Given the description of an element on the screen output the (x, y) to click on. 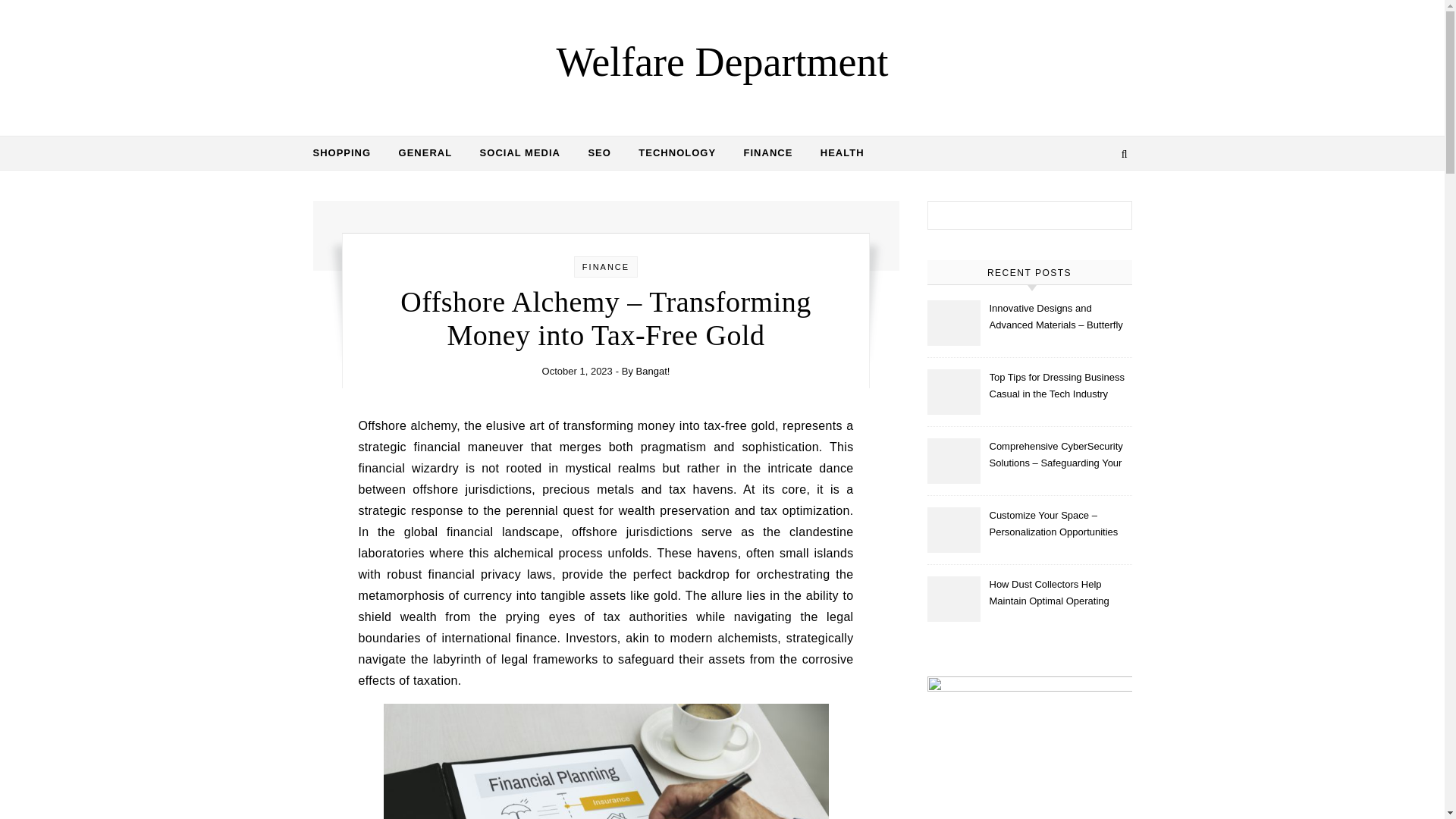
SHOPPING (347, 152)
SOCIAL MEDIA (519, 152)
HEALTH (836, 152)
Posts by Bangat! (652, 370)
FINANCE (605, 266)
Top Tips for Dressing Business Casual in the Tech Industry (1058, 386)
FINANCE (768, 152)
SEO (599, 152)
Bangat! (652, 370)
TECHNOLOGY (677, 152)
